Given the description of an element on the screen output the (x, y) to click on. 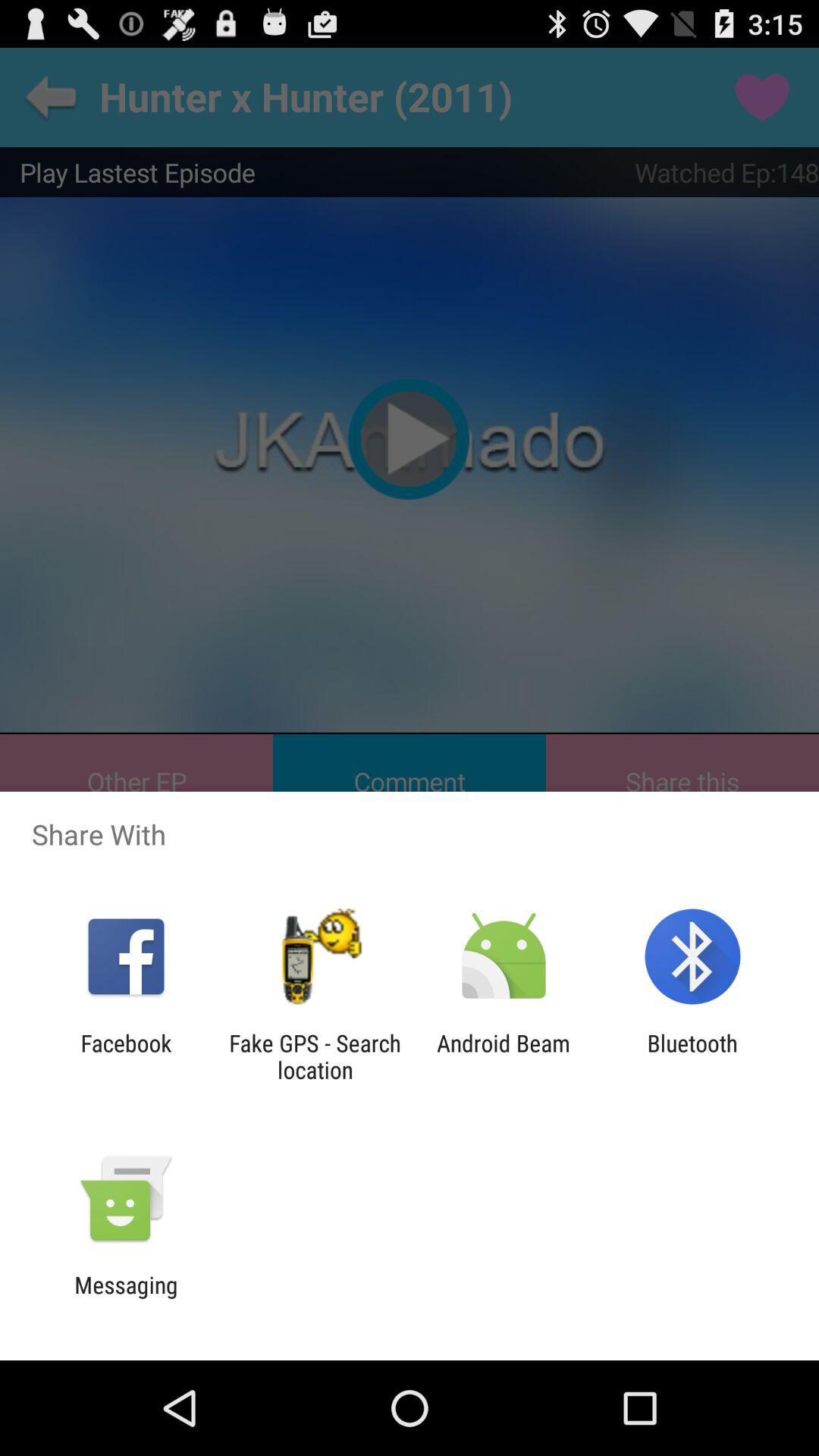
open android beam (503, 1056)
